Given the description of an element on the screen output the (x, y) to click on. 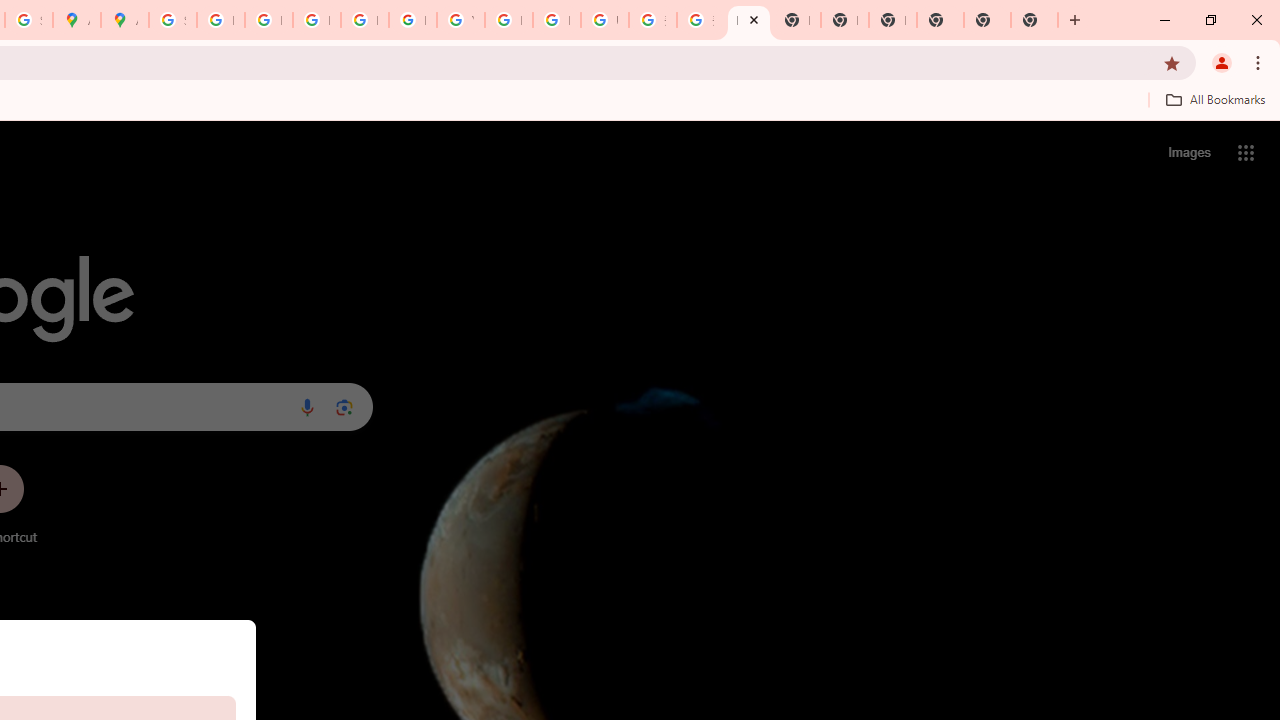
Privacy Help Center - Policies Help (316, 20)
Privacy Help Center - Policies Help (268, 20)
New Tab (1034, 20)
